Given the description of an element on the screen output the (x, y) to click on. 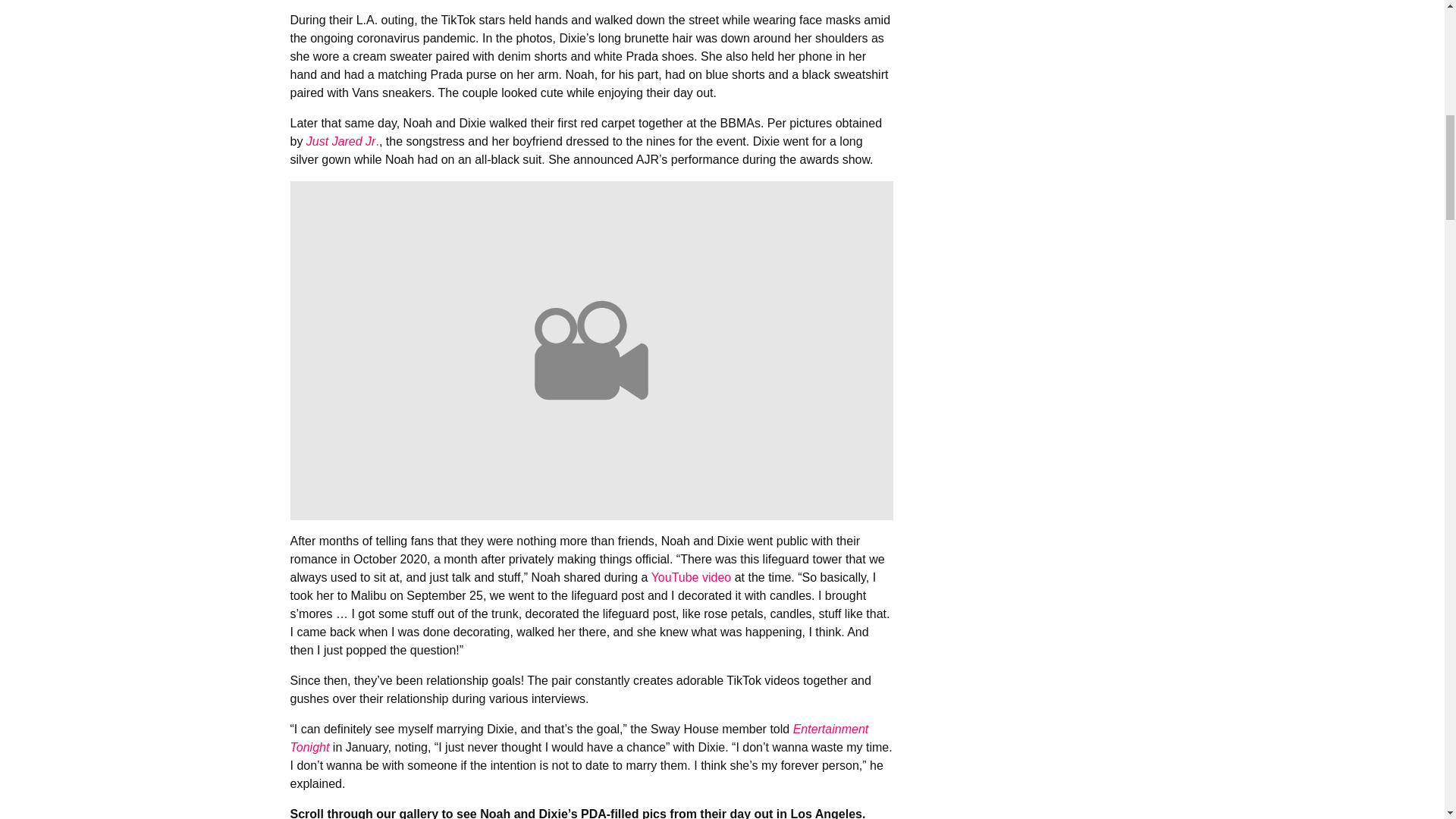
YouTube video (691, 576)
Just Jared Jr. (341, 141)
Entertainment Tonight (578, 737)
